Given the description of an element on the screen output the (x, y) to click on. 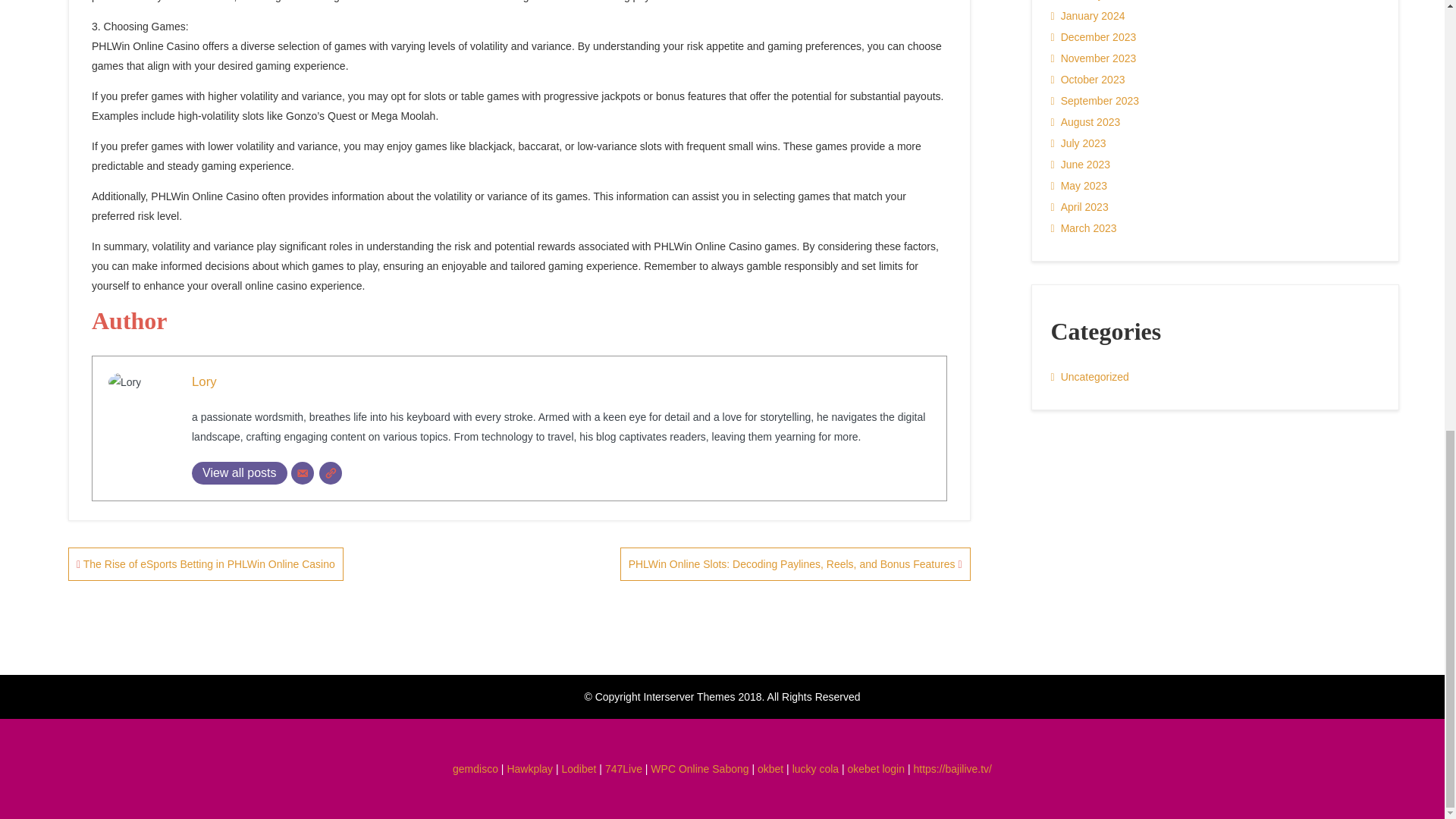
March 2023 (1083, 228)
Lory (204, 382)
April 2023 (1079, 206)
December 2023 (1094, 36)
July 2023 (1078, 142)
January 2024 (1088, 15)
Lory (204, 382)
View all posts (239, 472)
September 2023 (1095, 100)
November 2023 (1094, 57)
View all posts (239, 472)
October 2023 (1088, 79)
May 2023 (1079, 185)
June 2023 (1080, 164)
